Given the description of an element on the screen output the (x, y) to click on. 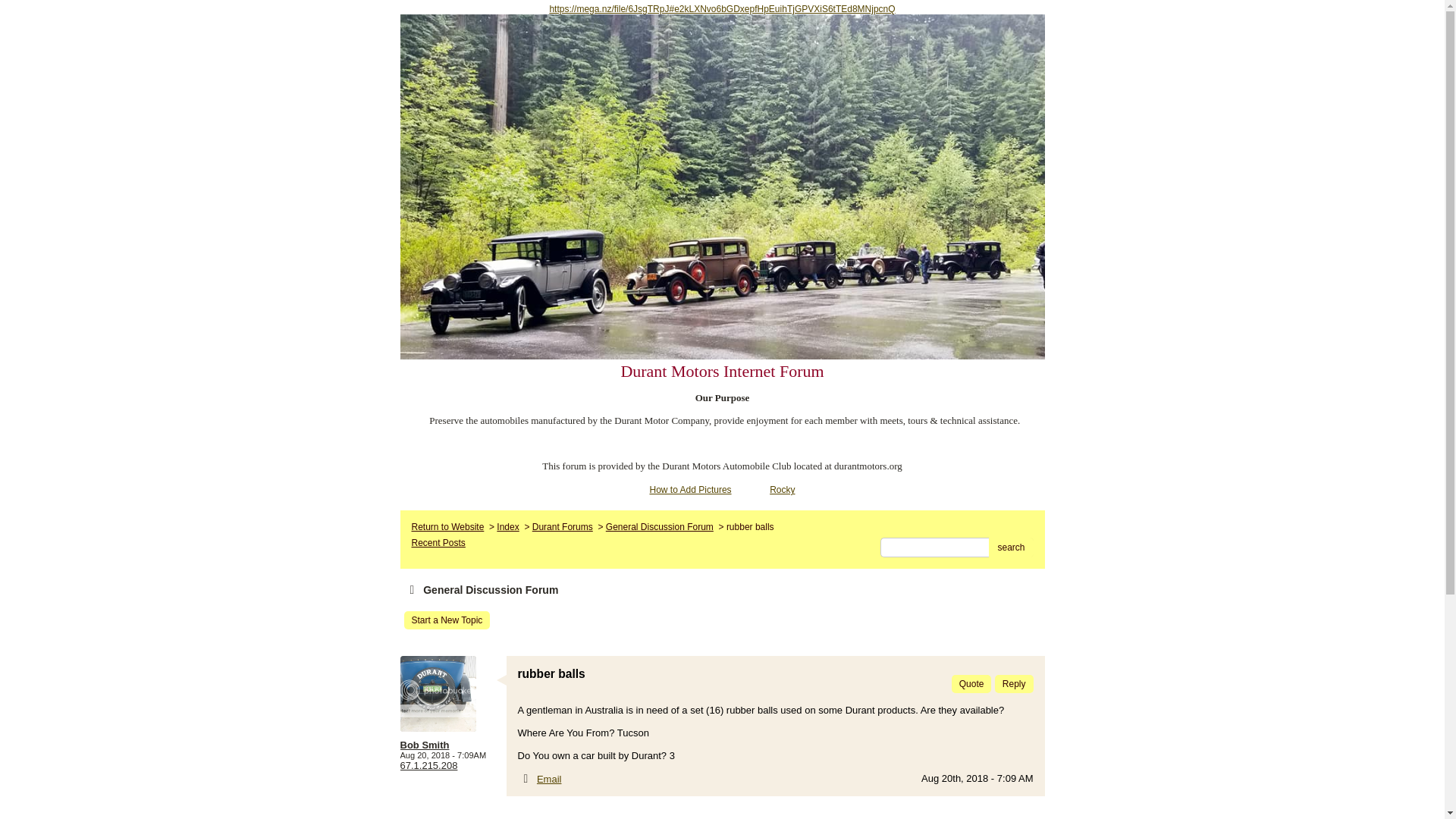
General Discussion Forum (659, 526)
Start a New Topic (446, 619)
Bob Smith (449, 745)
How to Add Pictures (689, 489)
Index (507, 526)
Email (549, 778)
Recent Posts (437, 542)
67.1.215.208 (429, 765)
Return to Website (446, 526)
Quote (971, 683)
Durant Forums (562, 526)
Messages from this User (424, 745)
search (1010, 547)
Rocky (782, 489)
Lookup all posts from this IP Address (429, 765)
